Given the description of an element on the screen output the (x, y) to click on. 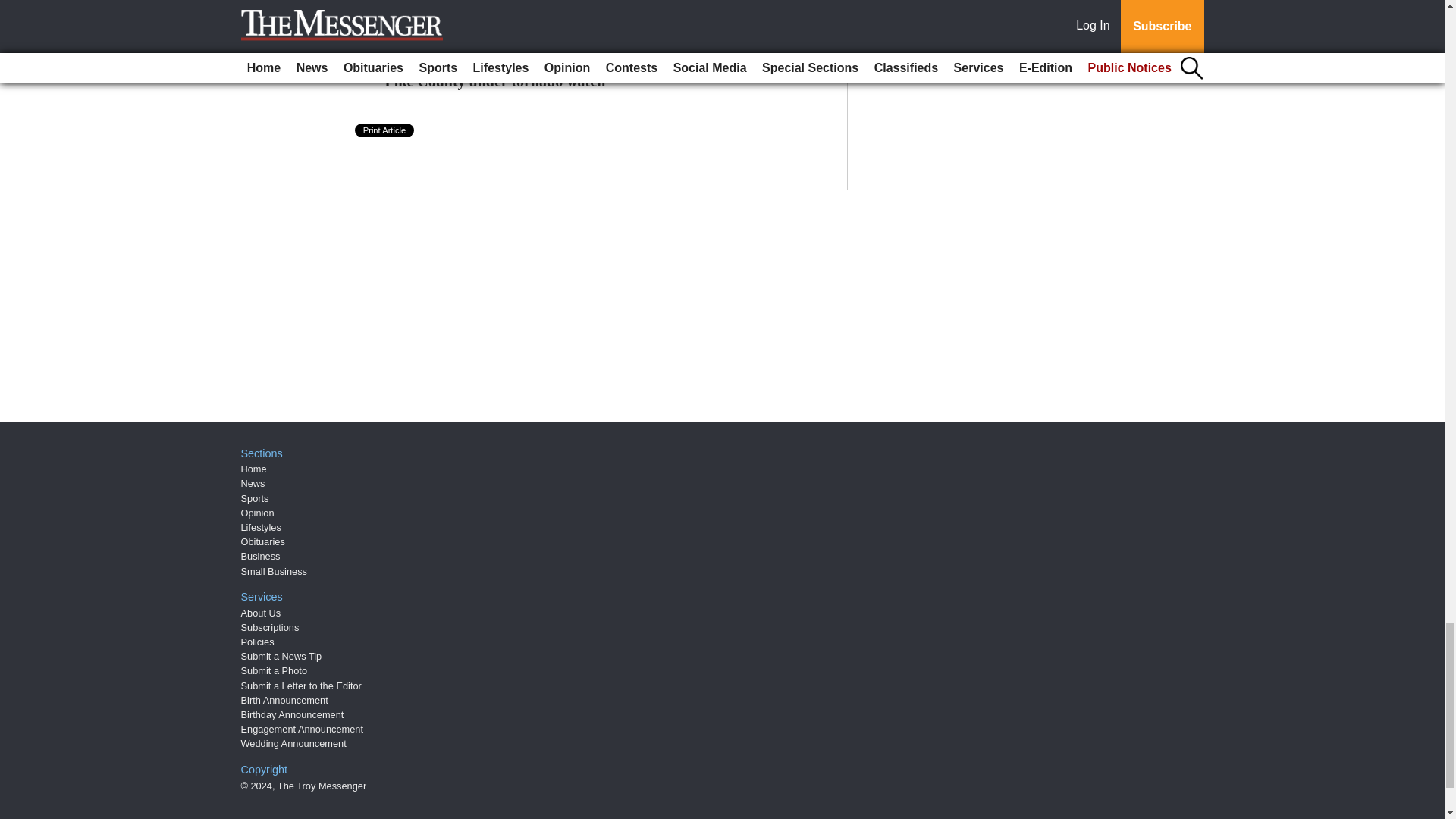
Pike County under tornado watch (495, 80)
PHOTOS: Pike County basketball v. Dale County (546, 29)
